Given the description of an element on the screen output the (x, y) to click on. 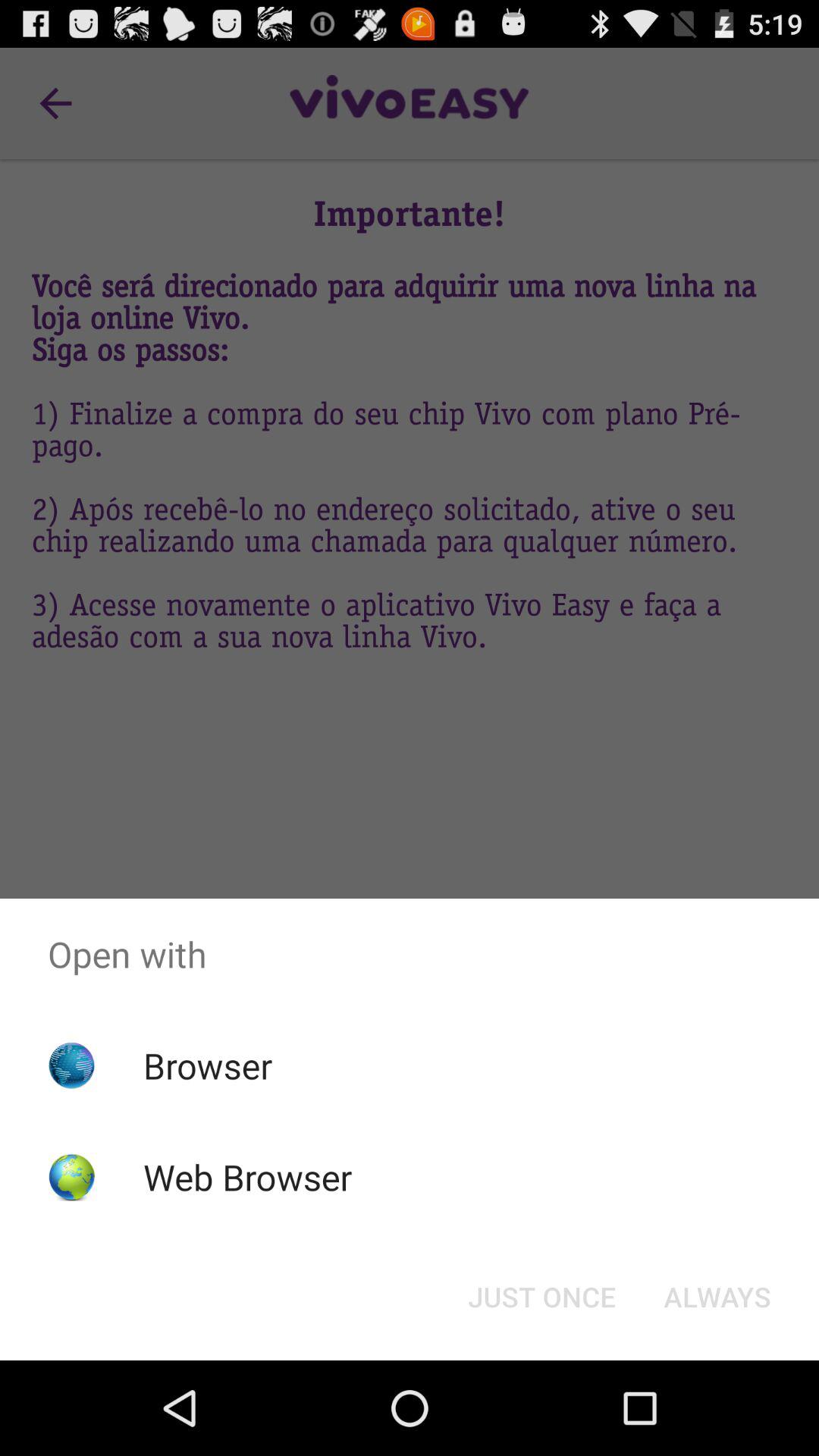
jump to just once (541, 1296)
